Given the description of an element on the screen output the (x, y) to click on. 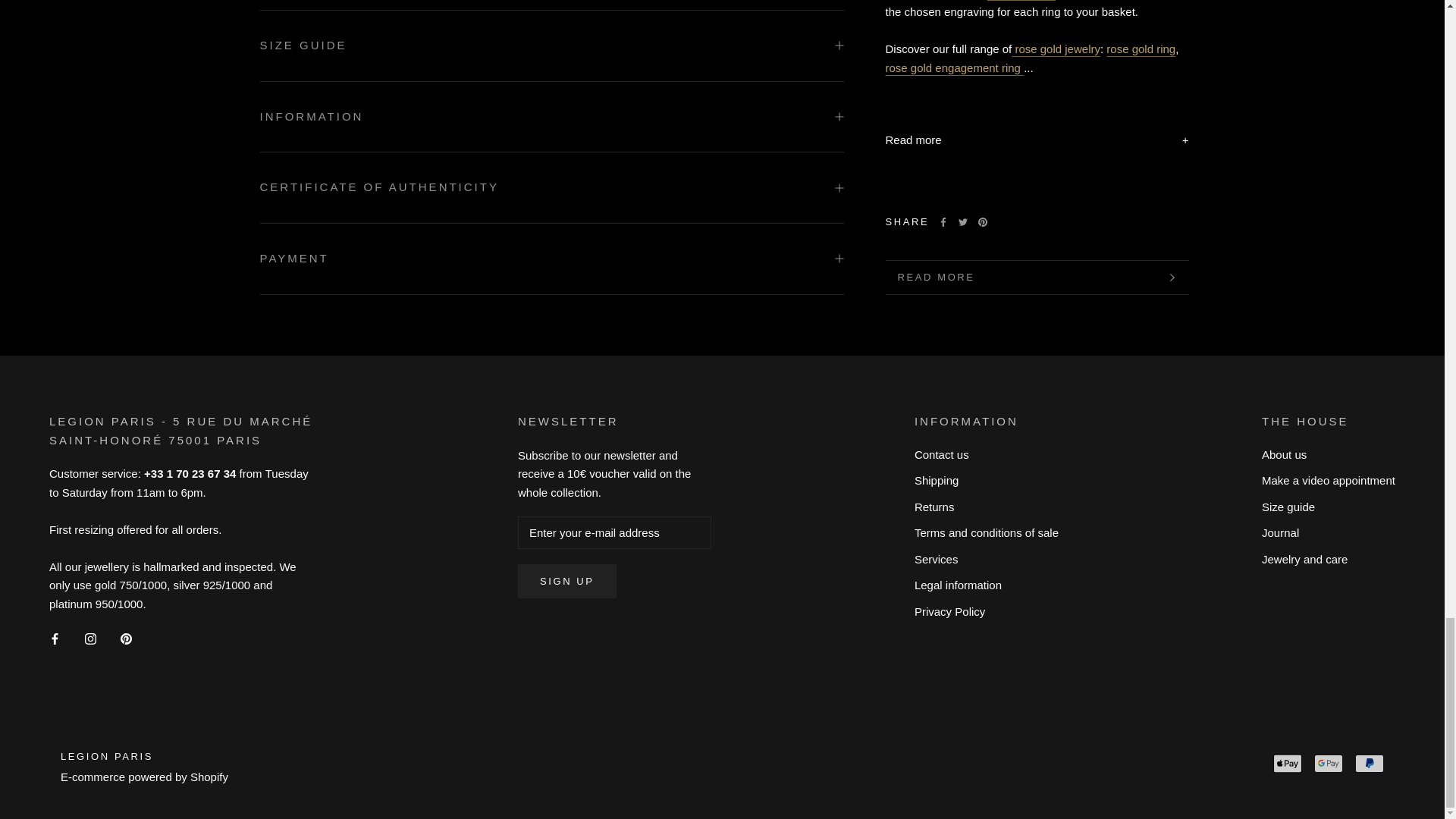
Google Pay (1328, 763)
Apple Pay (1286, 763)
PayPal (1369, 763)
